Given the description of an element on the screen output the (x, y) to click on. 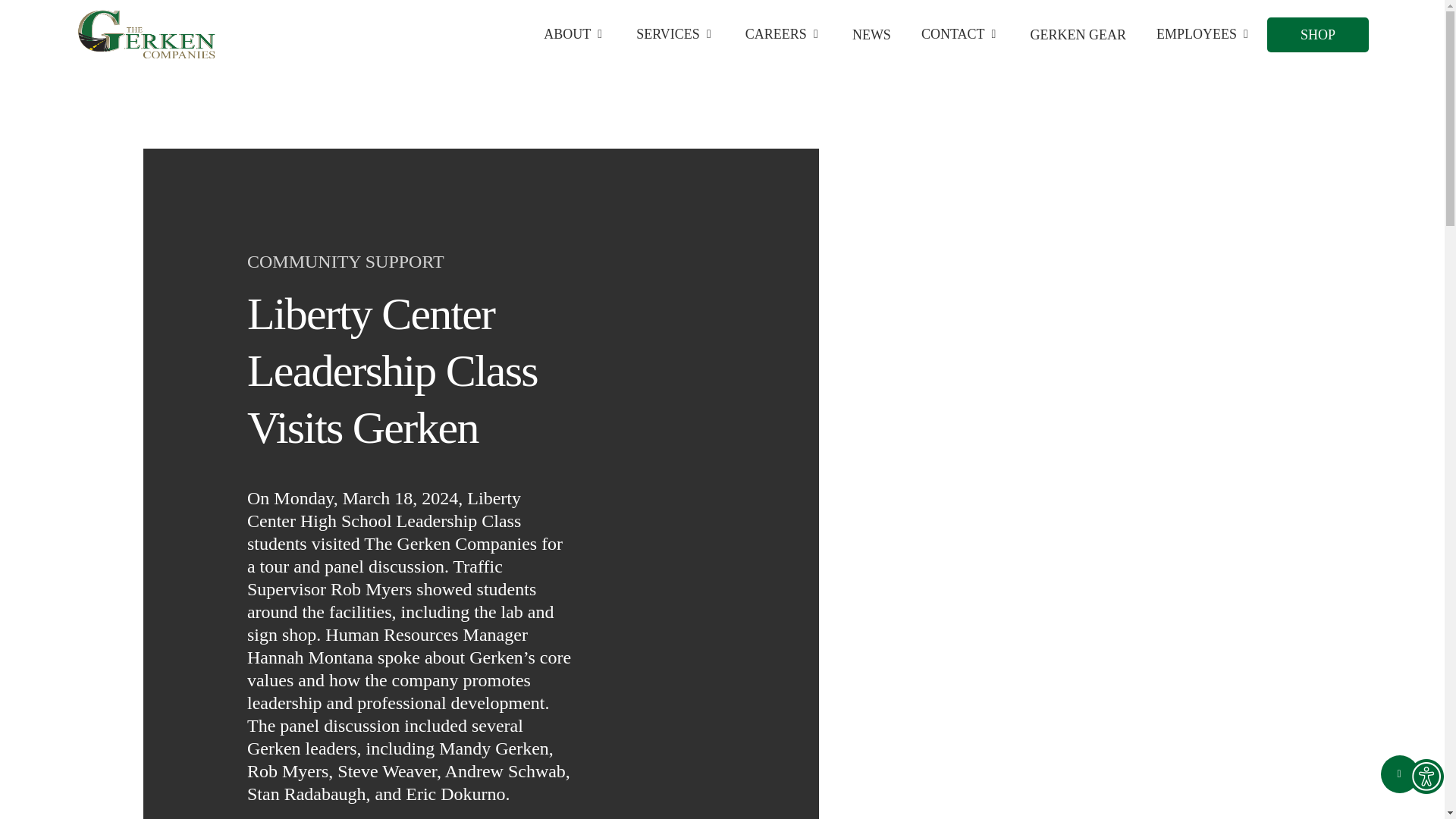
Accessibility Helper sidebar (1425, 776)
SERVICES (675, 34)
ABOUT (574, 34)
